Given the description of an element on the screen output the (x, y) to click on. 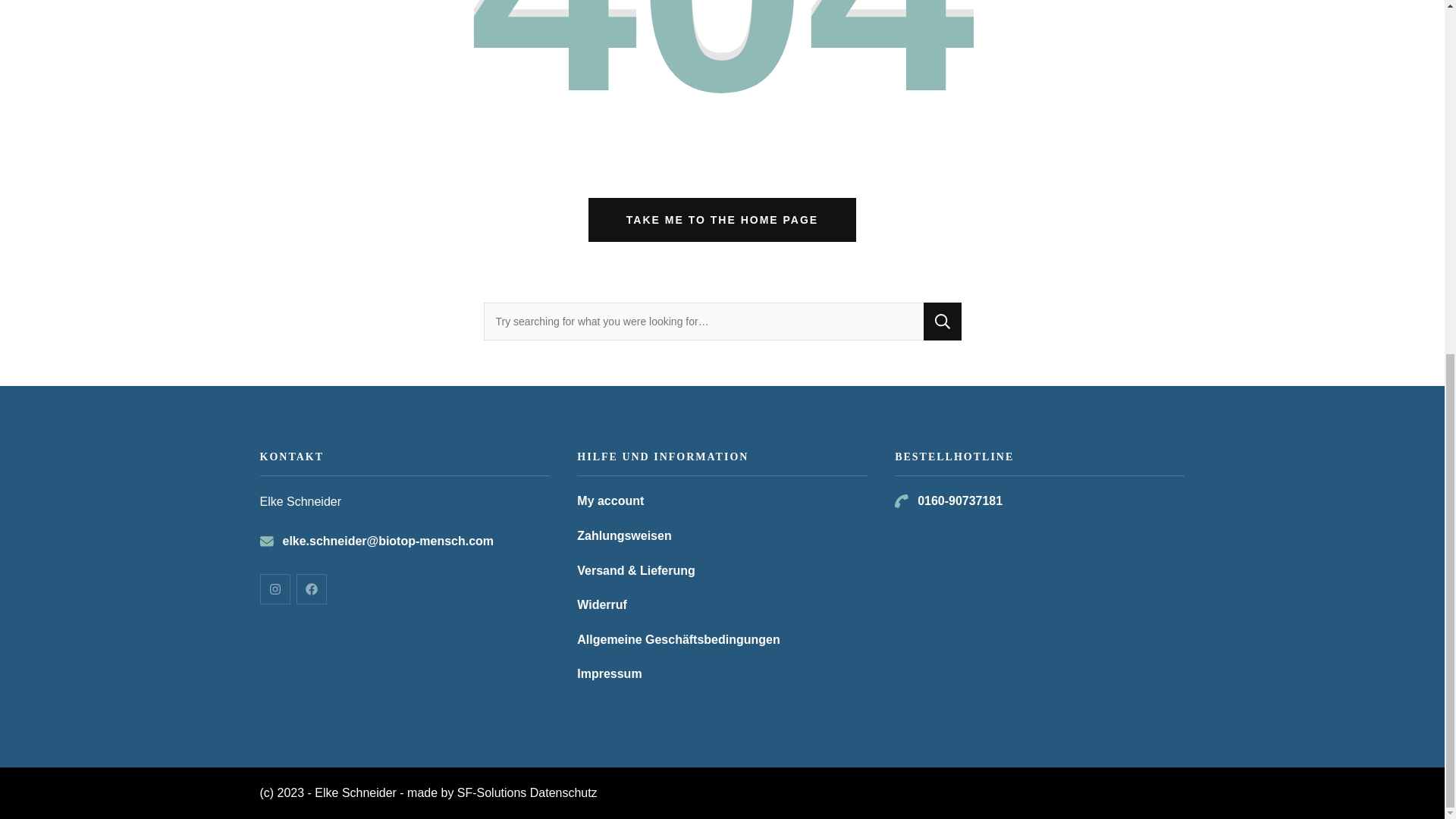
Search (941, 321)
Zahlungsweisen (623, 536)
My account (609, 501)
TAKE ME TO THE HOME PAGE (722, 220)
Search (941, 321)
0160-90737181 (960, 501)
Impressum (609, 673)
Search (941, 321)
Datenschutz (562, 792)
Widerruf (601, 605)
